Given the description of an element on the screen output the (x, y) to click on. 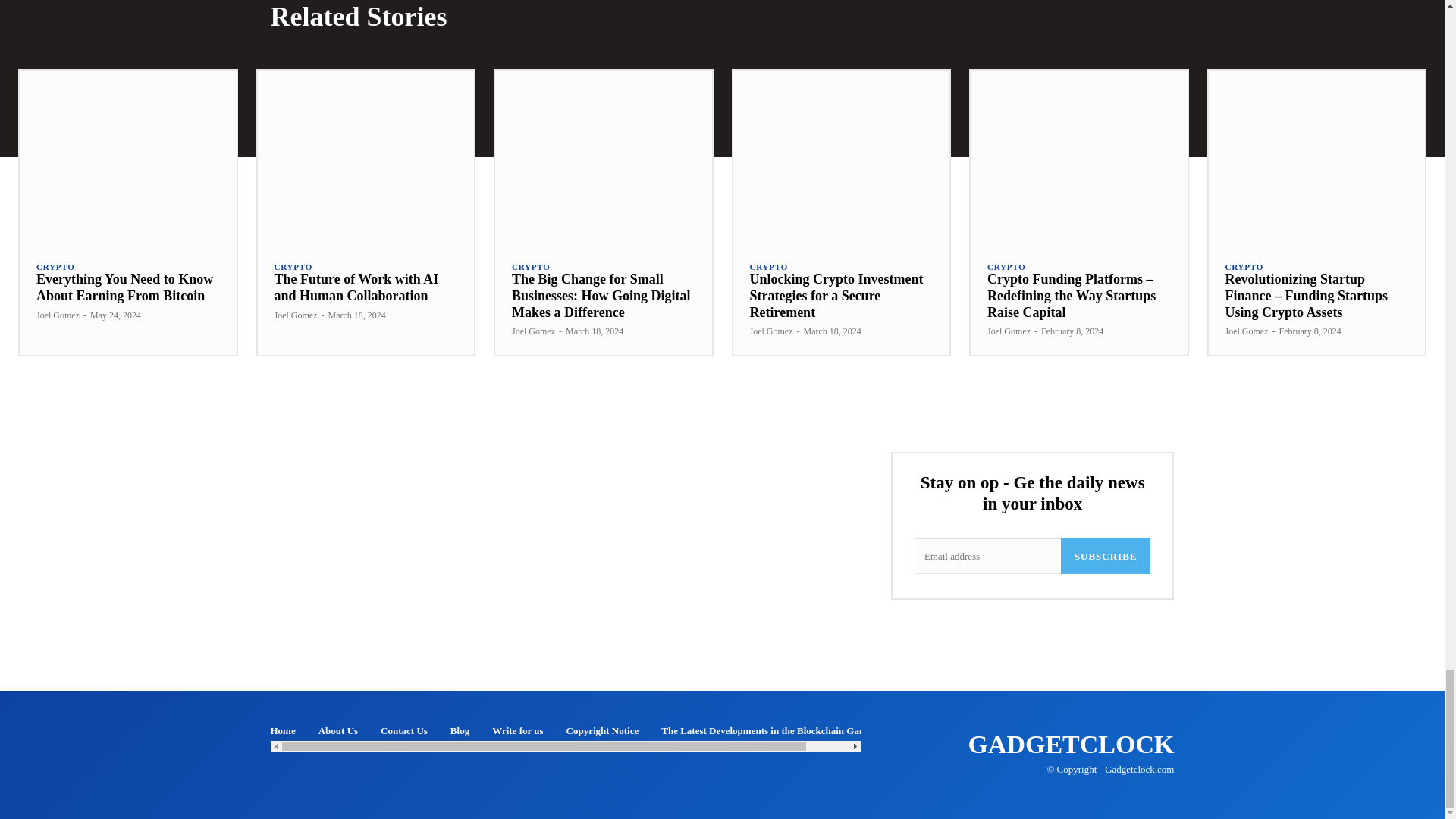
The Future of Work with AI and Human Collaboration (365, 156)
The Future of Work with AI and Human Collaboration (357, 287)
